Given the description of an element on the screen output the (x, y) to click on. 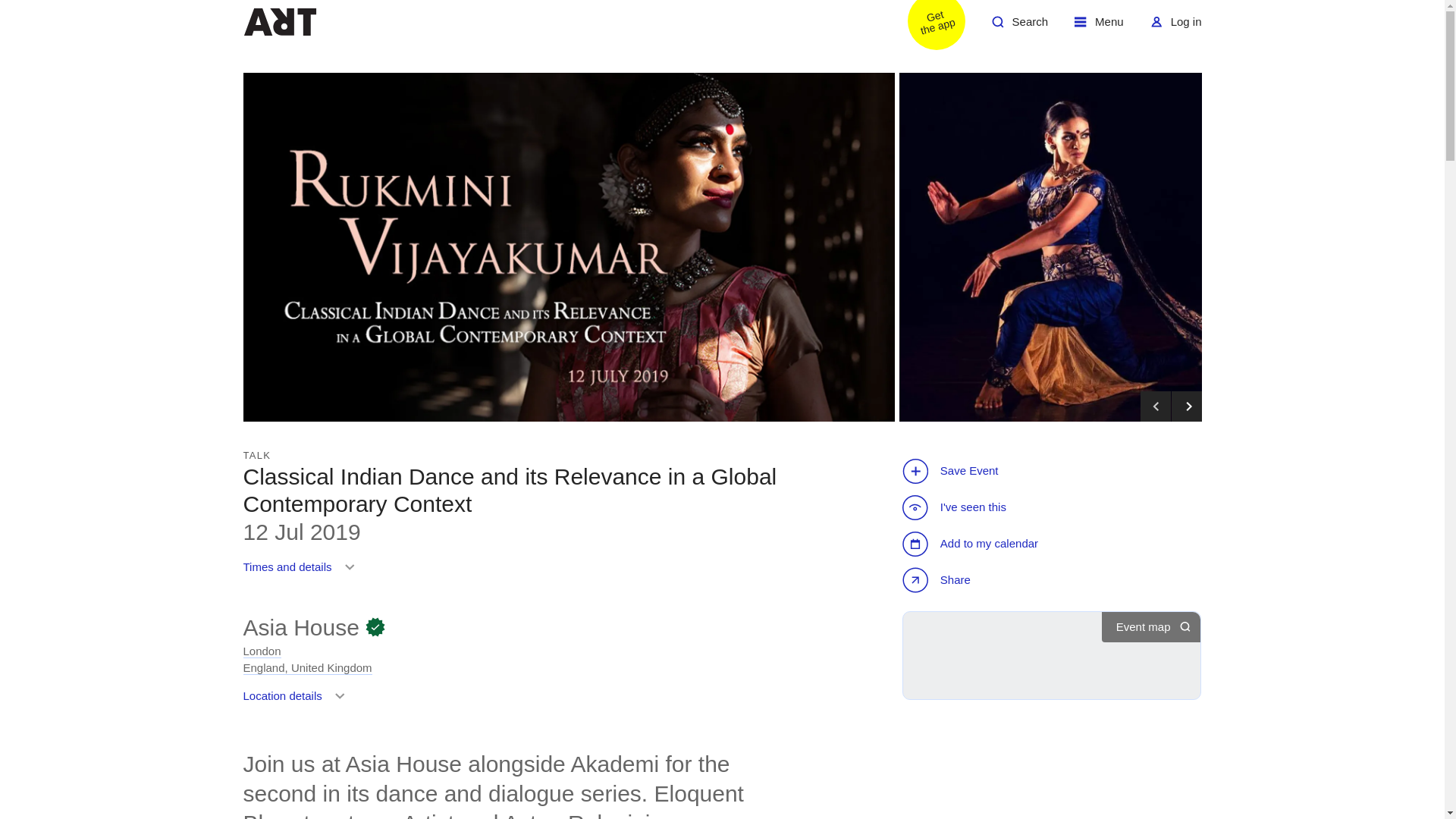
Add to my calendar (297, 700)
Asia House (972, 543)
Share (1099, 26)
